Given the description of an element on the screen output the (x, y) to click on. 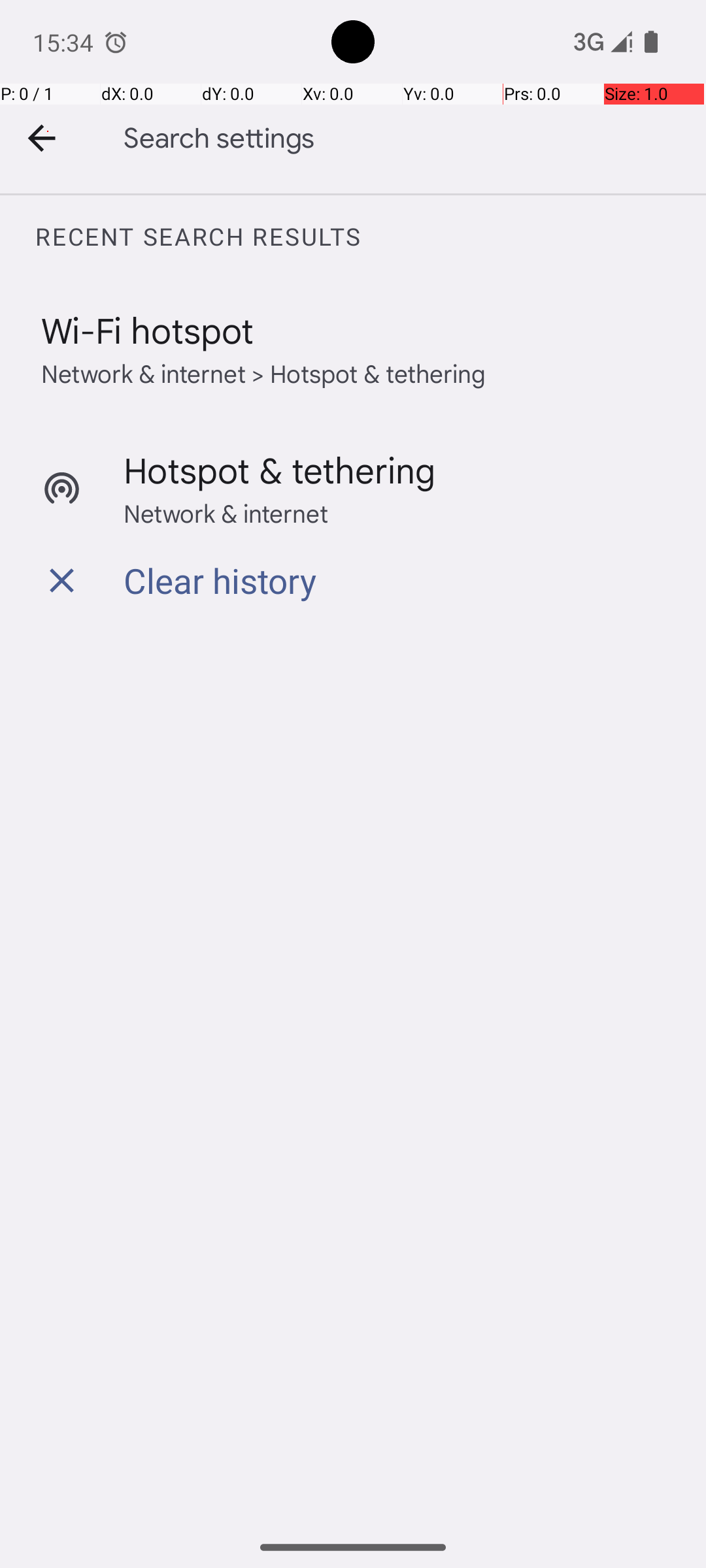
RECENT SEARCH RESULTS Element type: android.widget.TextView (370, 236)
Wi-Fi hotspot Element type: android.widget.TextView (147, 329)
Network & internet > Hotspot & tethering Element type: android.widget.TextView (263, 372)
Clear history Element type: android.widget.TextView (219, 580)
